Given the description of an element on the screen output the (x, y) to click on. 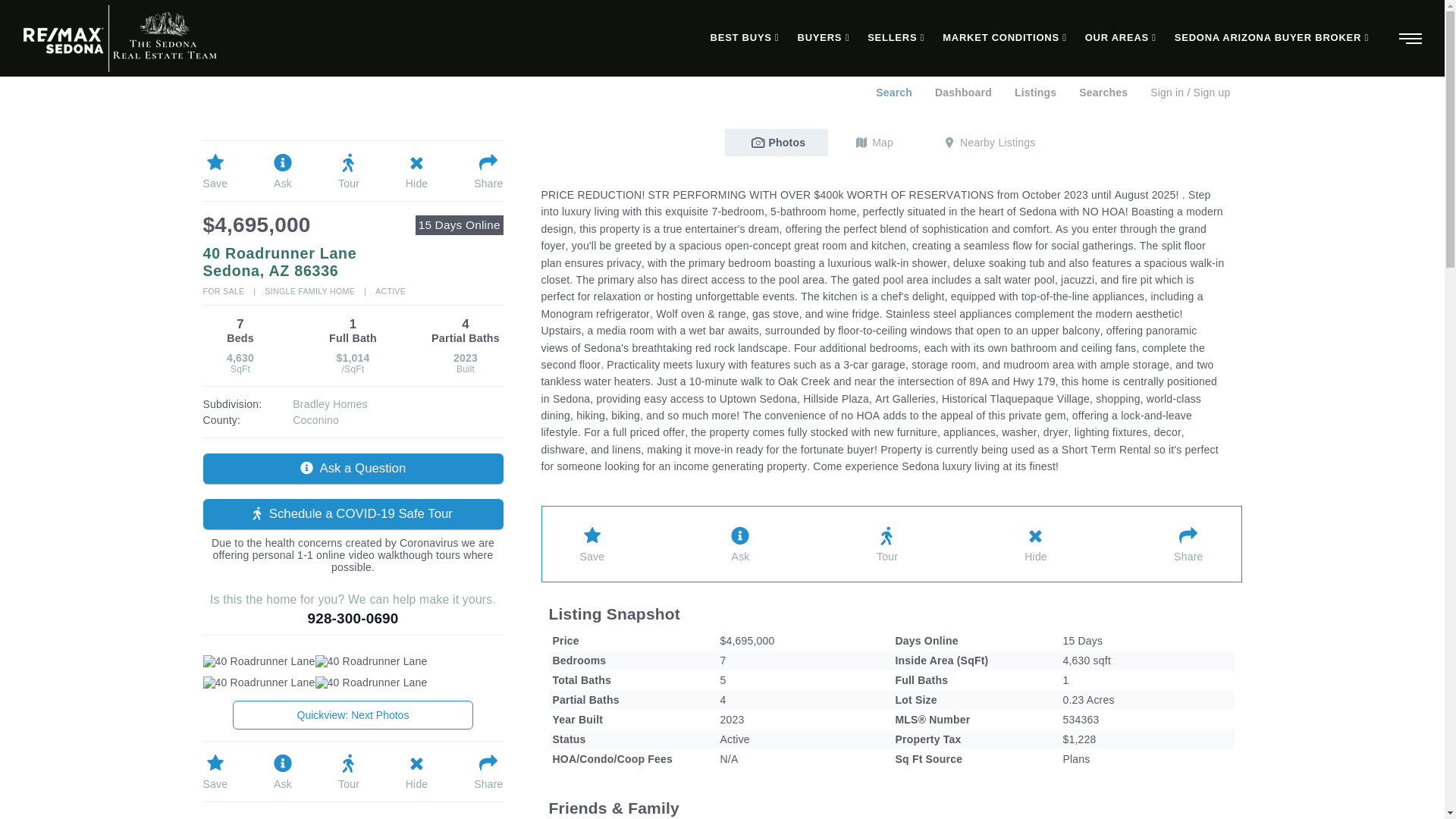
SEDONA ARIZONA BUYER BROKER (1271, 38)
MARKET CONDITIONS (1004, 38)
BEST BUYS (745, 38)
OUR AREAS (1120, 38)
BUYERS (824, 38)
SELLERS (896, 38)
